Given the description of an element on the screen output the (x, y) to click on. 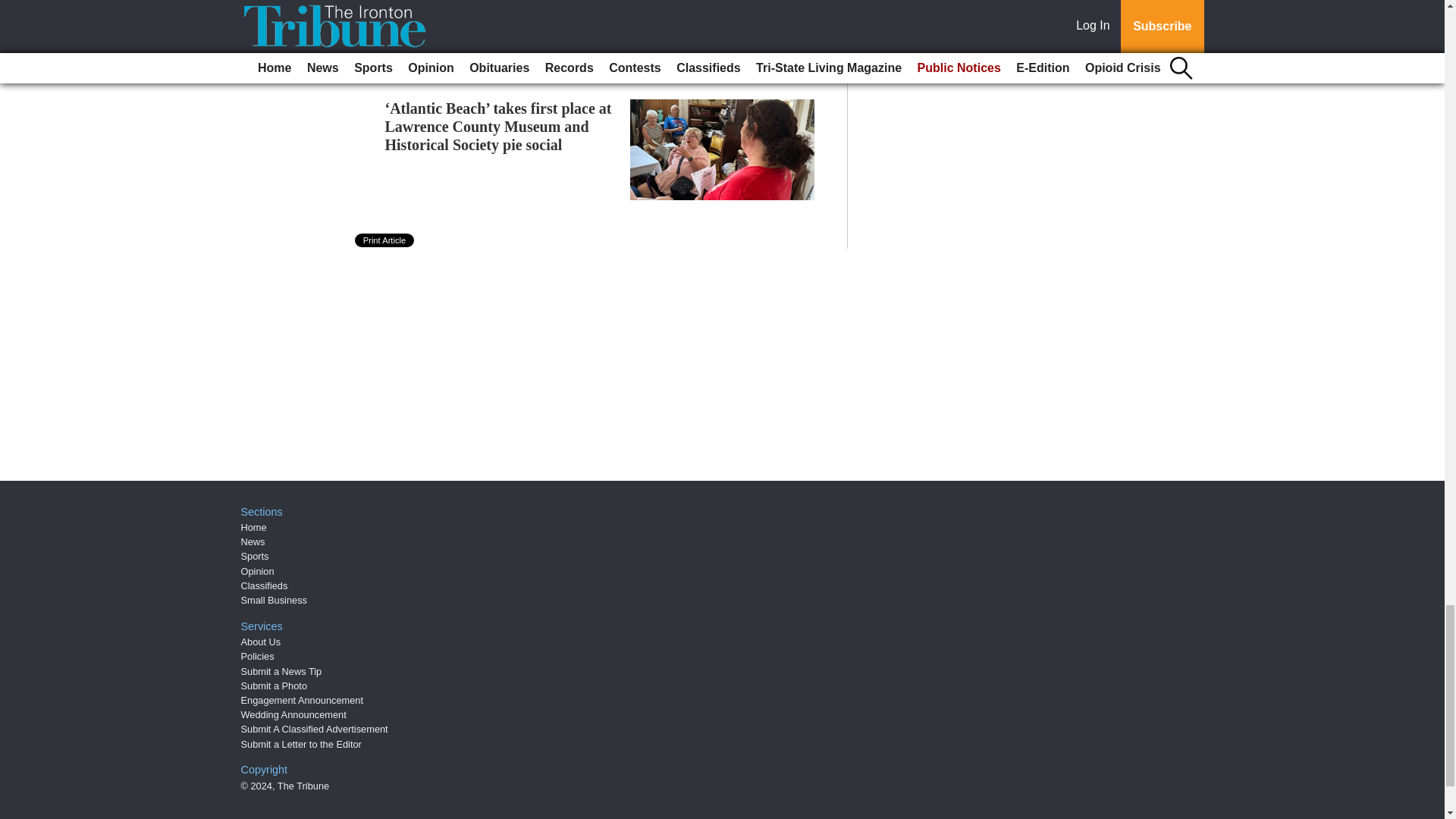
News (252, 541)
Print Article (384, 240)
Home (253, 527)
